Given the description of an element on the screen output the (x, y) to click on. 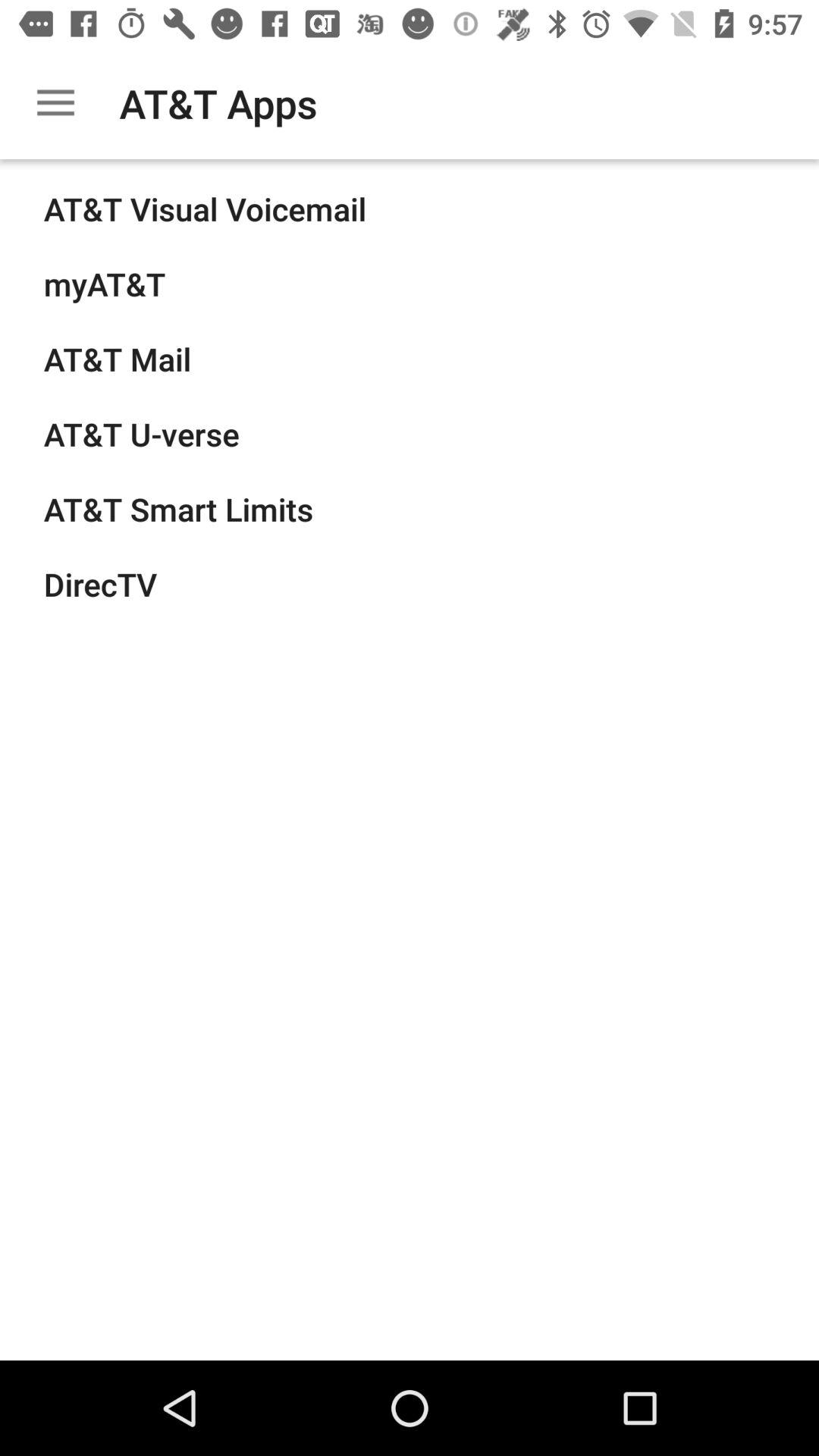
turn off icon above the at t visual item (55, 103)
